Given the description of an element on the screen output the (x, y) to click on. 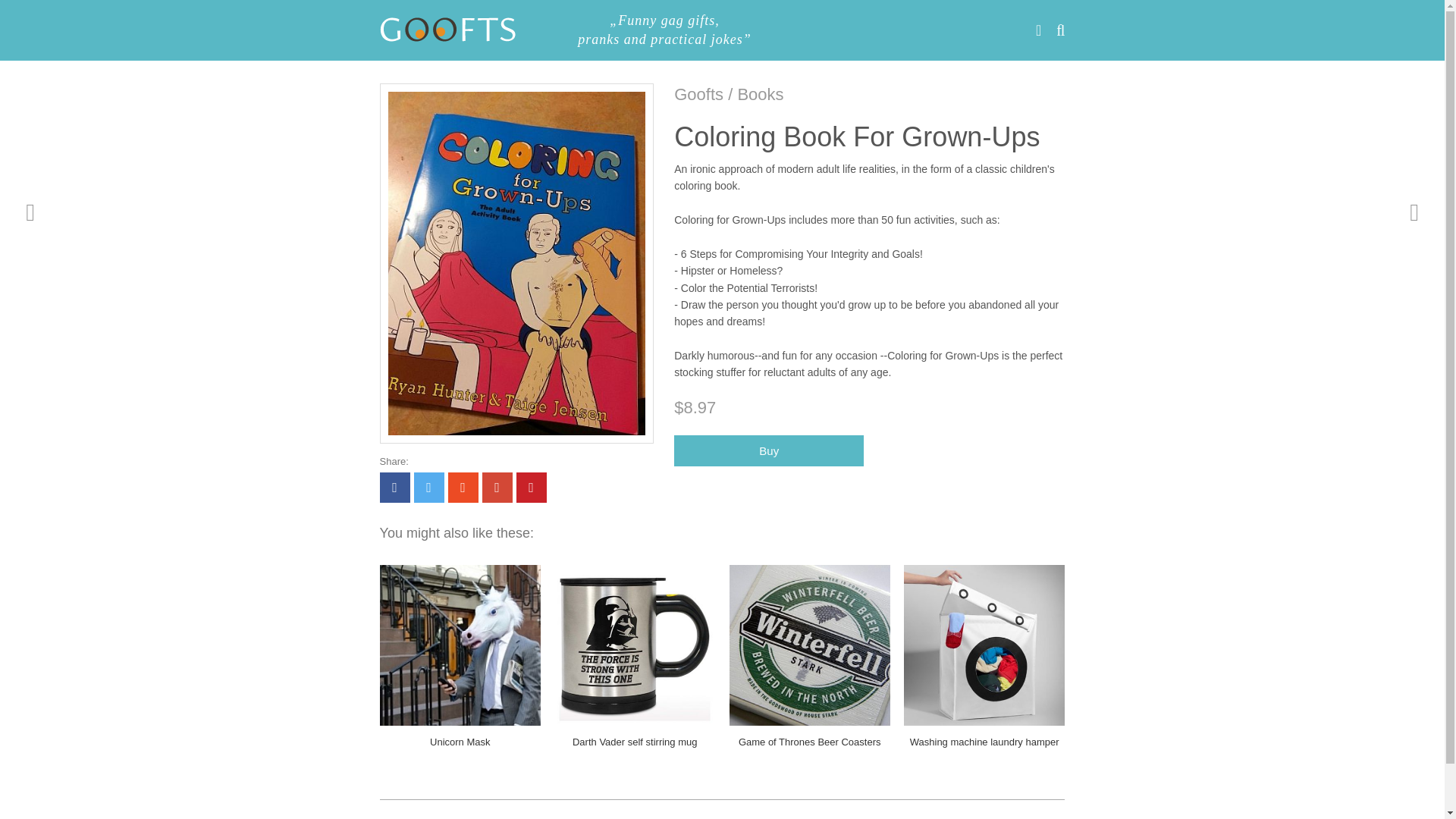
Unicorn Mask (459, 741)
Darth Vader self stirring mug (634, 741)
Books (759, 94)
Washing machine laundry hamper (984, 741)
Game of Thrones Beer Coasters (809, 741)
Buy (768, 450)
Goofts (698, 94)
